Given the description of an element on the screen output the (x, y) to click on. 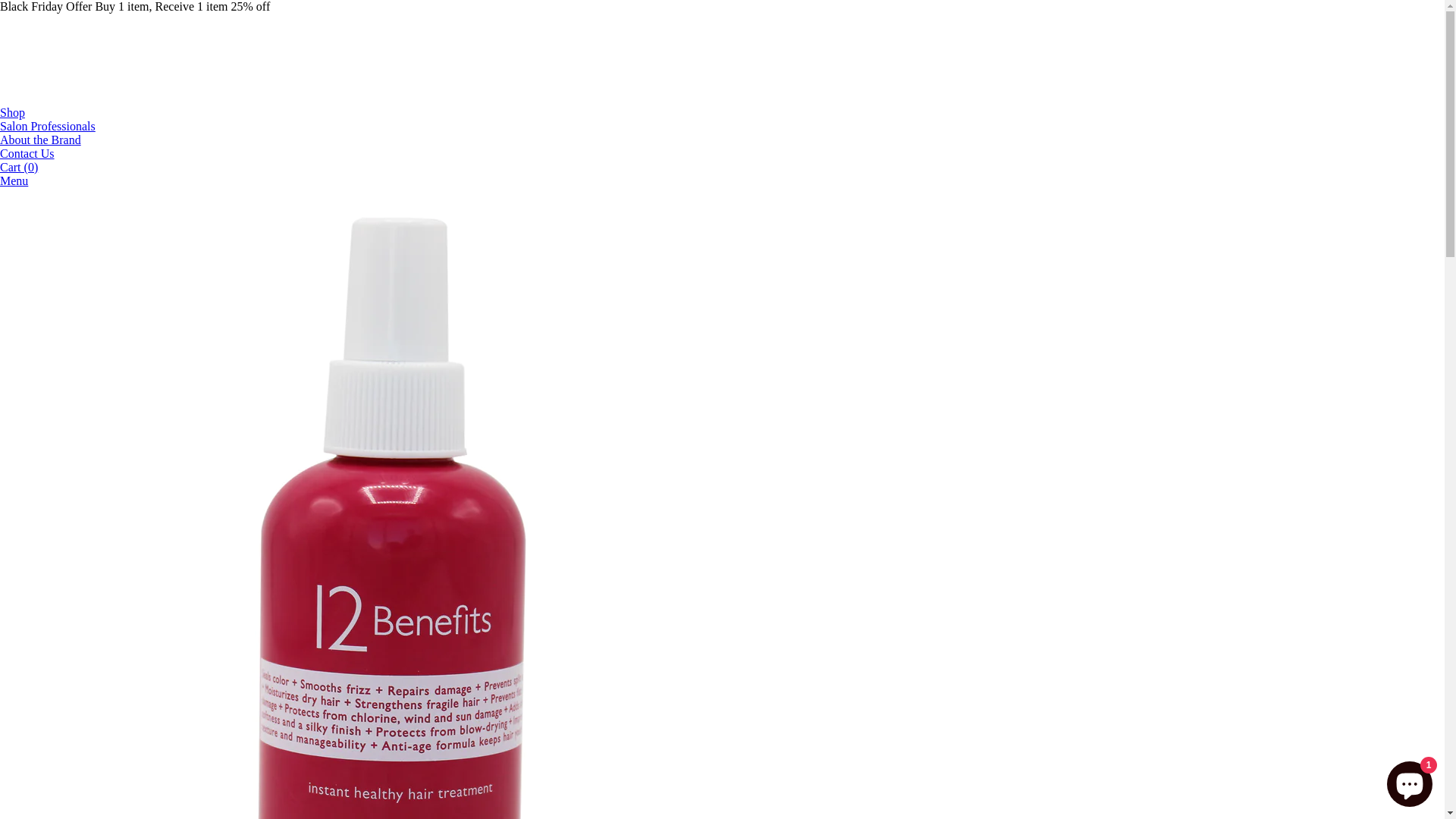
Contact Us Element type: text (27, 153)
12benefits Element type: hover (114, 98)
Menu Element type: text (14, 180)
Shop Element type: text (12, 112)
Shopify online store chat Element type: hover (1409, 780)
Salon Professionals Element type: text (47, 125)
Cart (0) Element type: text (18, 166)
About the Brand Element type: text (40, 139)
